Given the description of an element on the screen output the (x, y) to click on. 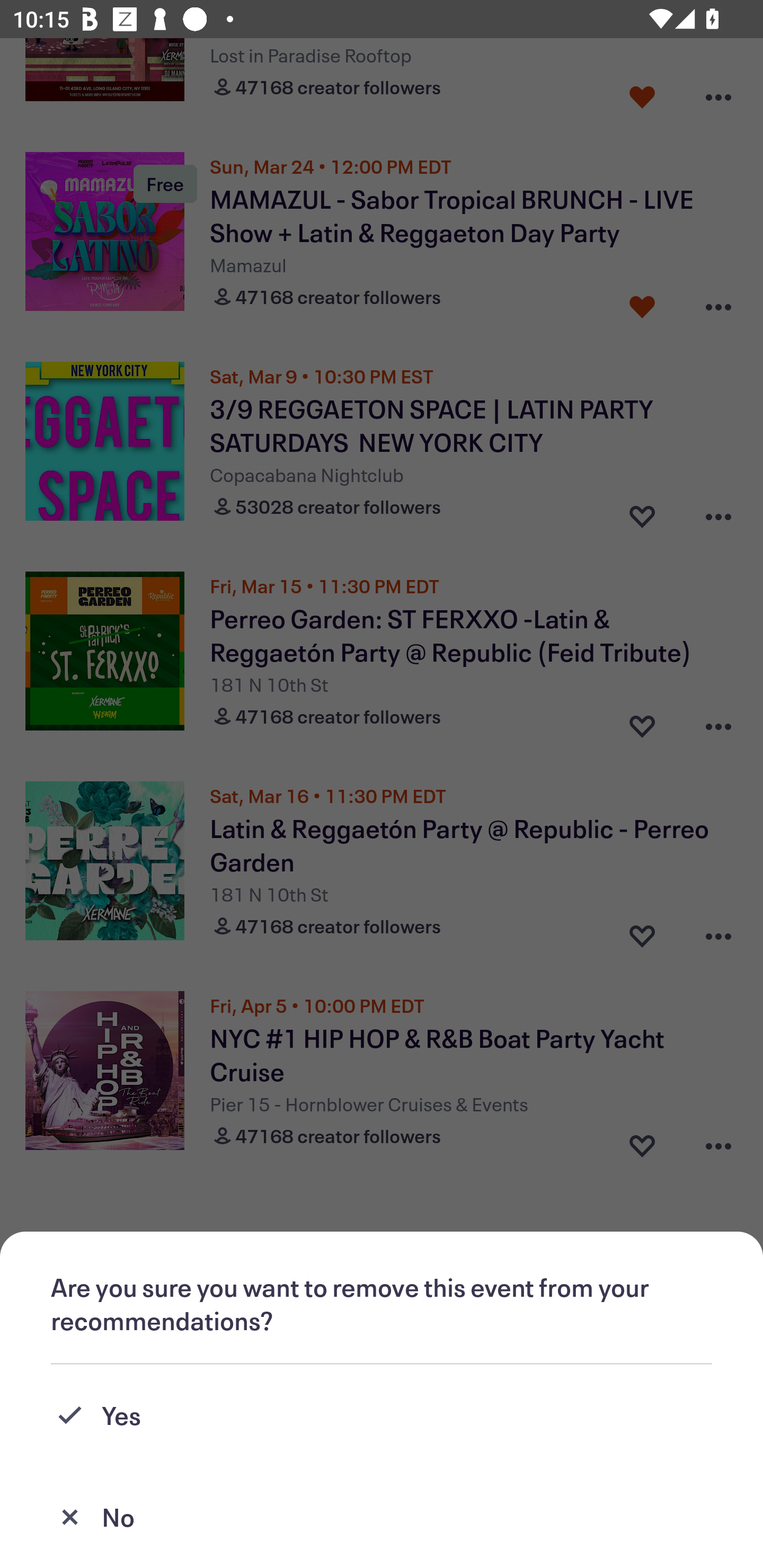
Yes (381, 1415)
No (381, 1517)
